Given the description of an element on the screen output the (x, y) to click on. 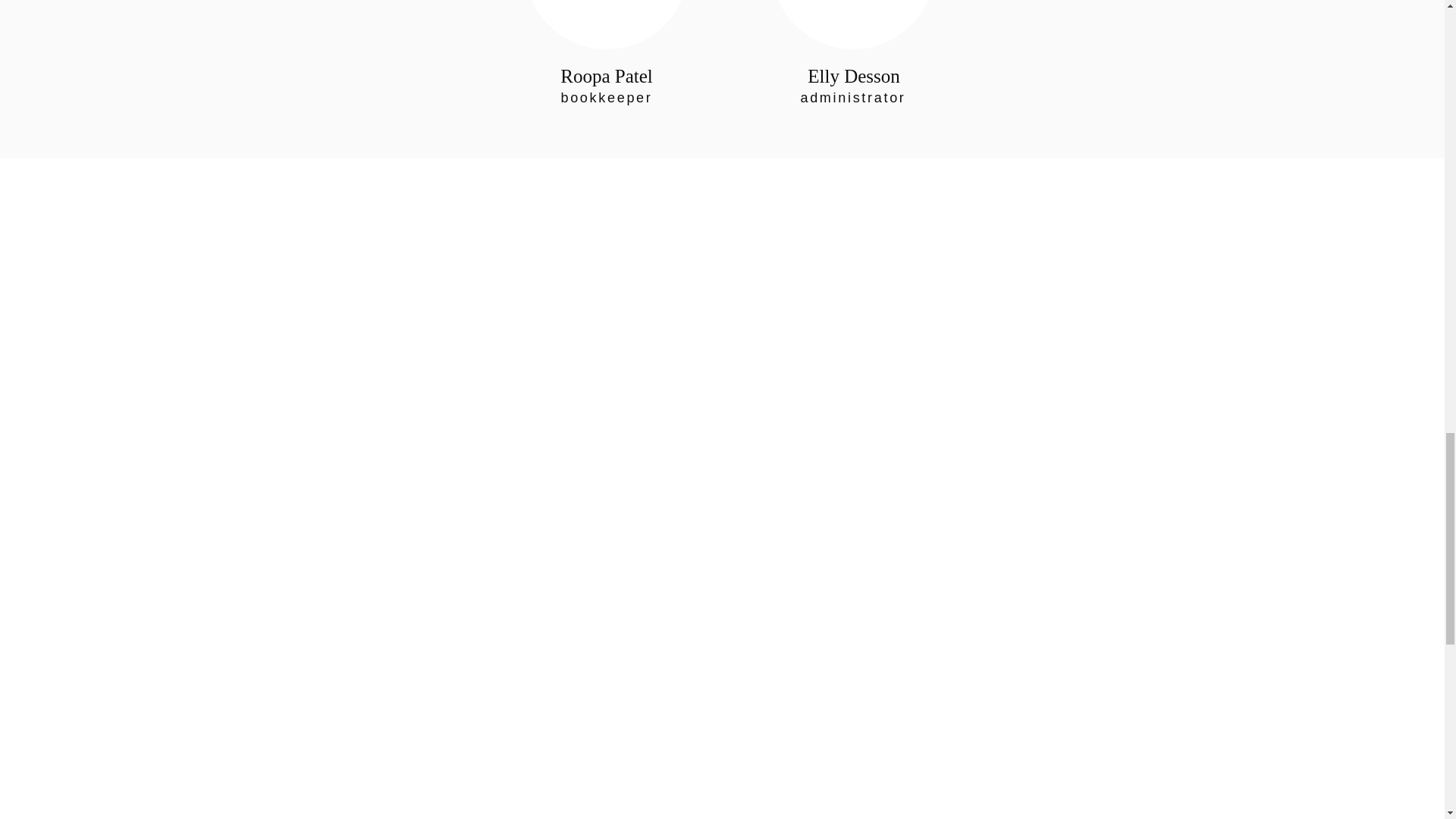
Ashley the Financial Officer (852, 24)
Ashley the Financial Officer (606, 24)
